Given the description of an element on the screen output the (x, y) to click on. 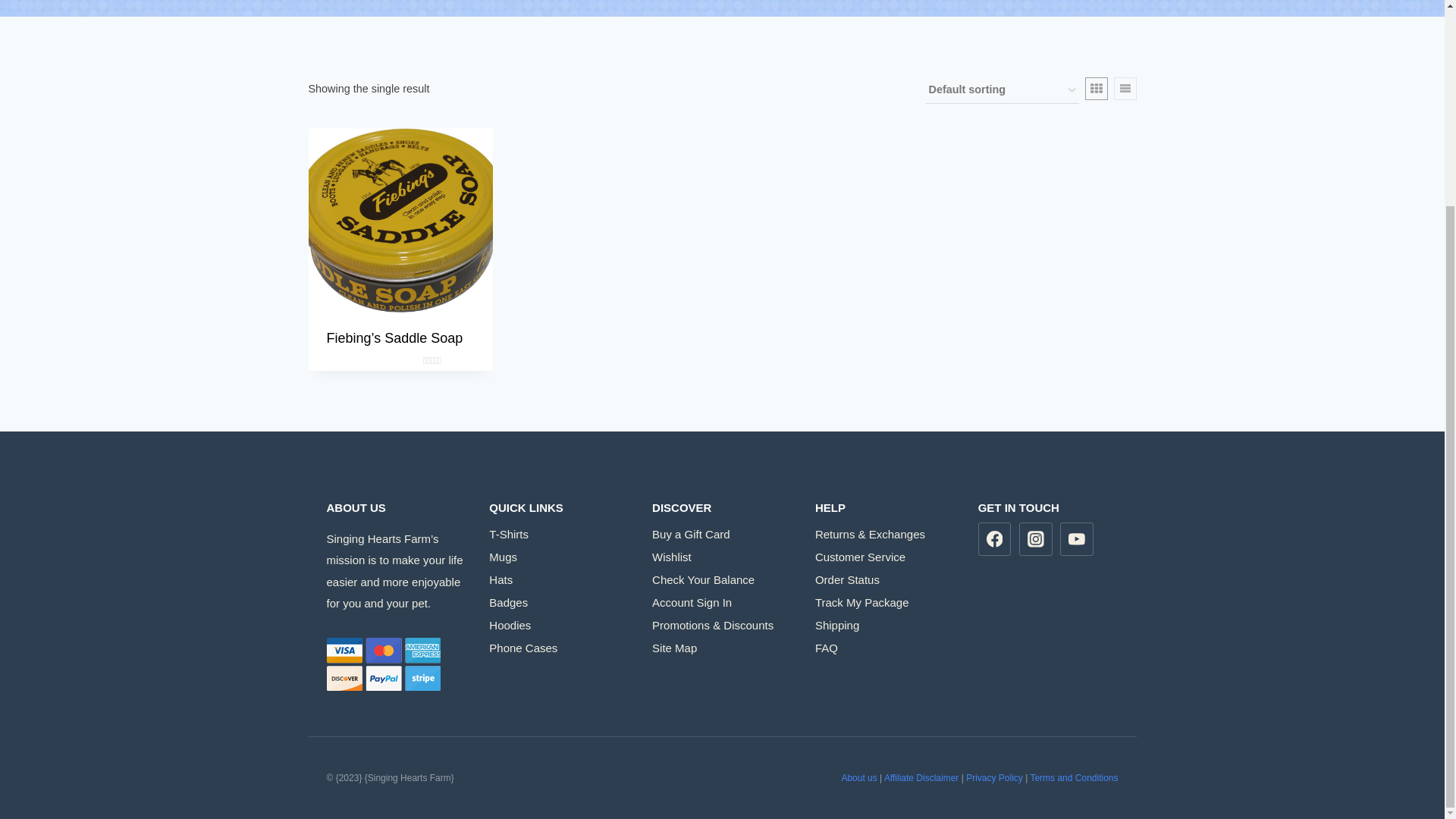
Account Sign In (722, 601)
Wishlist (722, 556)
Grid View (1095, 87)
Hats (558, 579)
Badges (558, 601)
Order Status (885, 579)
Phone Cases (558, 647)
Check Your Balance (722, 579)
Site Map (722, 647)
Buy a Gift Card (722, 533)
